Given the description of an element on the screen output the (x, y) to click on. 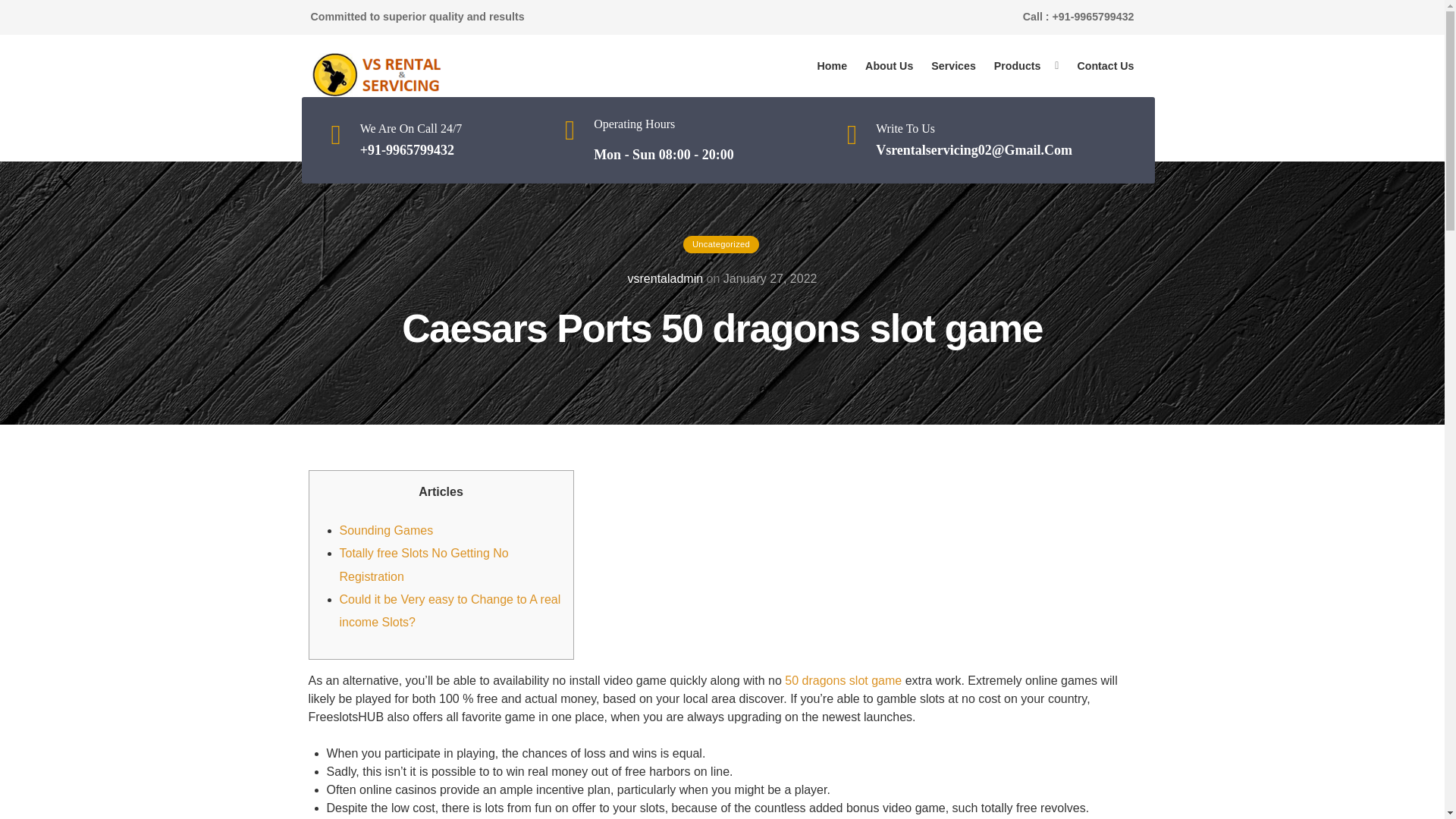
Visit Author Posts (665, 278)
About Us (888, 66)
50 dragons slot game (842, 680)
Contact Us (1104, 66)
Sounding Games (386, 530)
Could it be Very easy to Change to A real income Slots? (449, 610)
Products (1017, 66)
Uncategorized (720, 244)
